Given the description of an element on the screen output the (x, y) to click on. 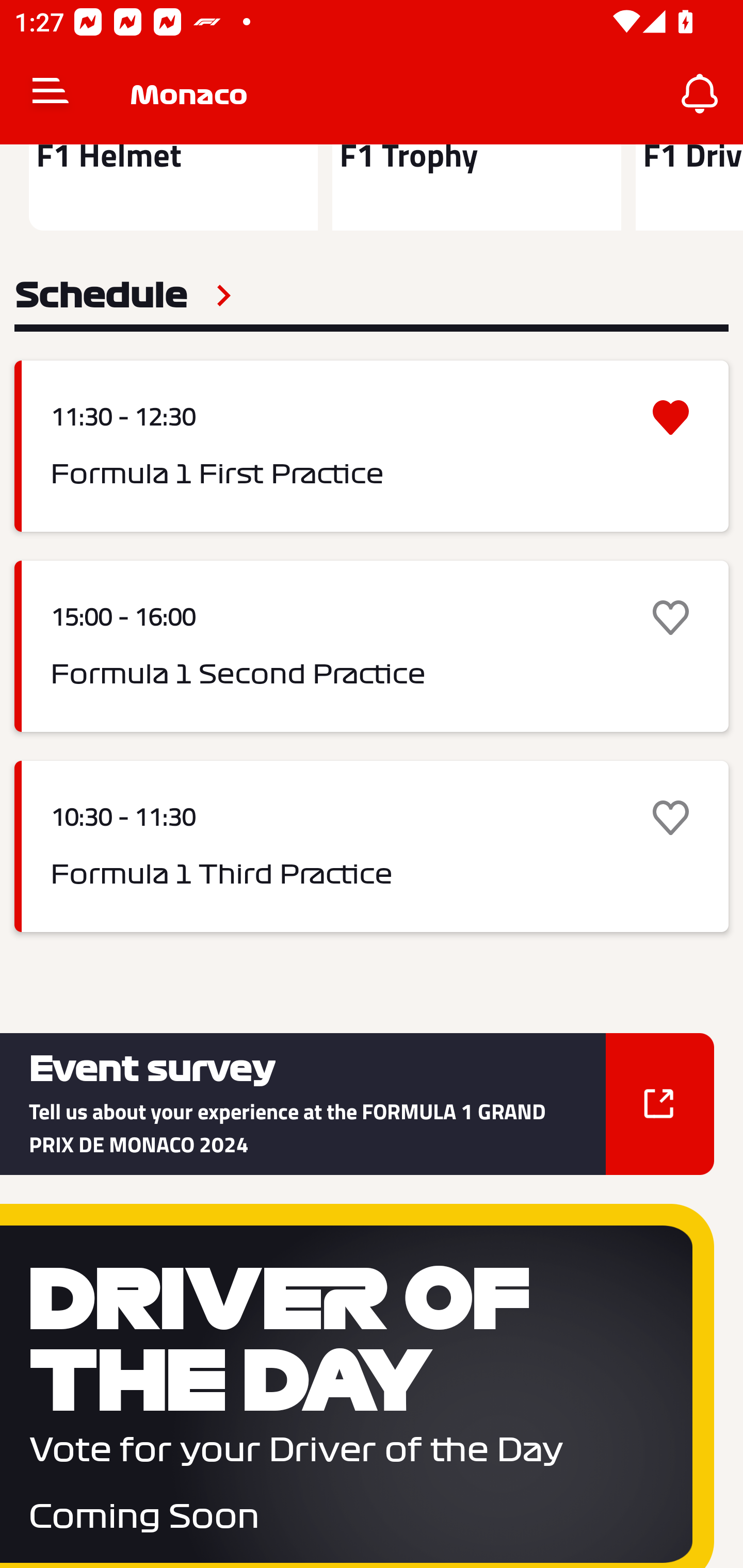
Navigate up (50, 93)
Notifications (699, 93)
F1 Helmet (173, 187)
F1 Trophy (476, 187)
Schedule (122, 295)
11:30 - 12:30 Formula 1 First Practice (371, 445)
15:00 - 16:00 Formula 1 Second Practice (371, 646)
10:30 - 11:30 Formula 1 Third Practice (371, 845)
